Given the description of an element on the screen output the (x, y) to click on. 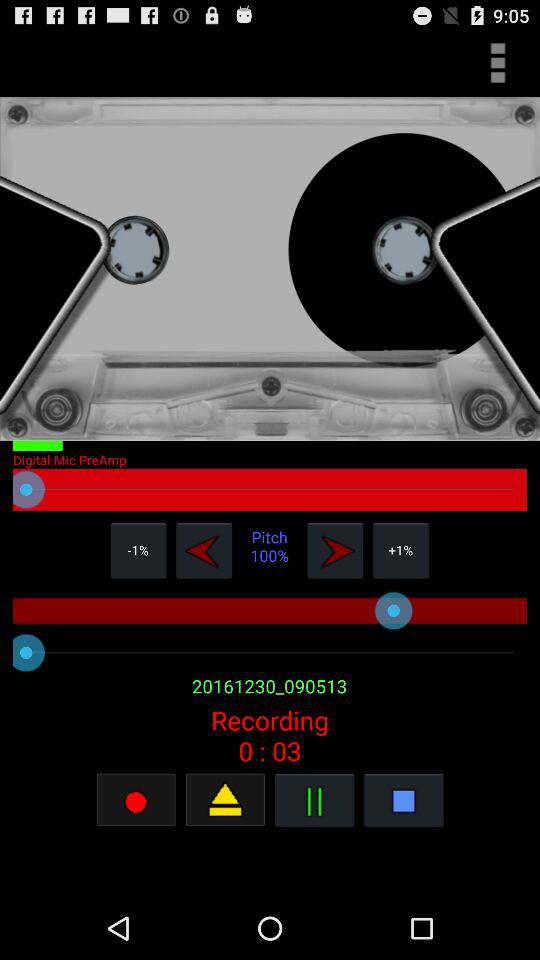
to pause recording (314, 799)
